Given the description of an element on the screen output the (x, y) to click on. 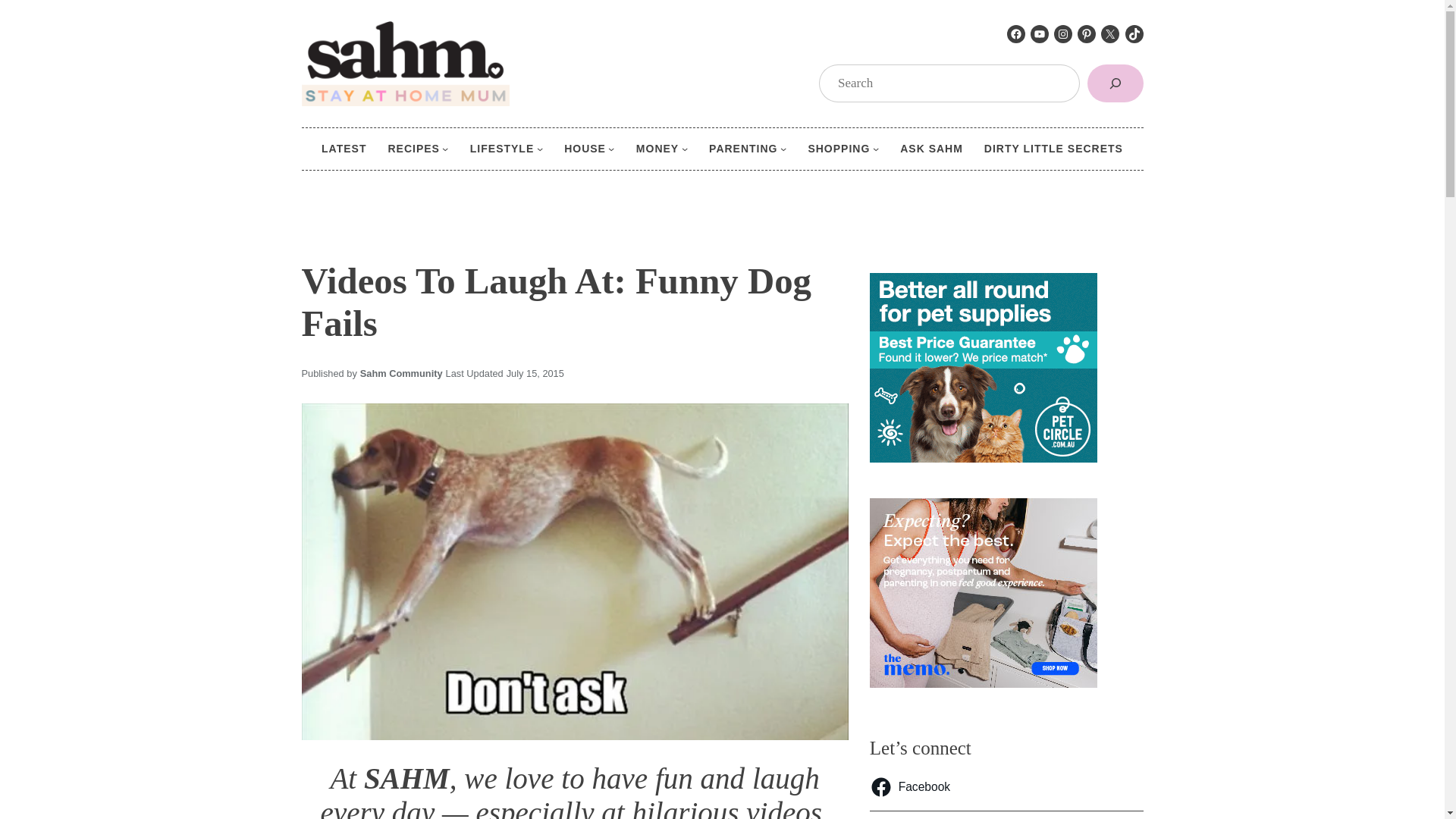
RECIPES (413, 148)
MONEY (657, 148)
TikTok (1133, 34)
YouTube (1039, 34)
X (1109, 34)
HOUSE (584, 148)
LATEST (343, 148)
LIFESTYLE (502, 148)
Facebook (1016, 34)
Instagram (1062, 34)
Pinterest (1086, 34)
